Given the description of an element on the screen output the (x, y) to click on. 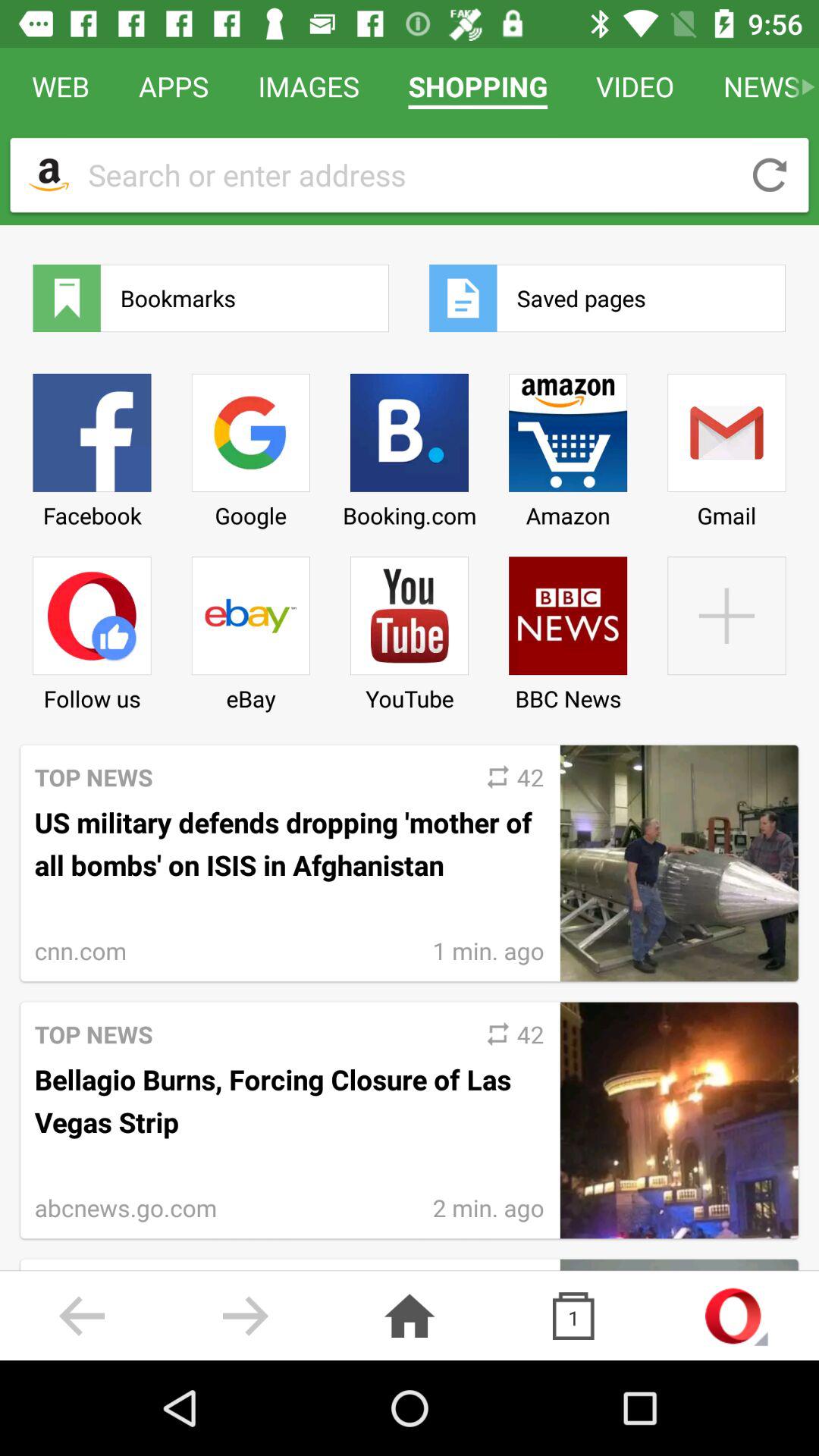
turn on the item next to amazon item (726, 444)
